Given the description of an element on the screen output the (x, y) to click on. 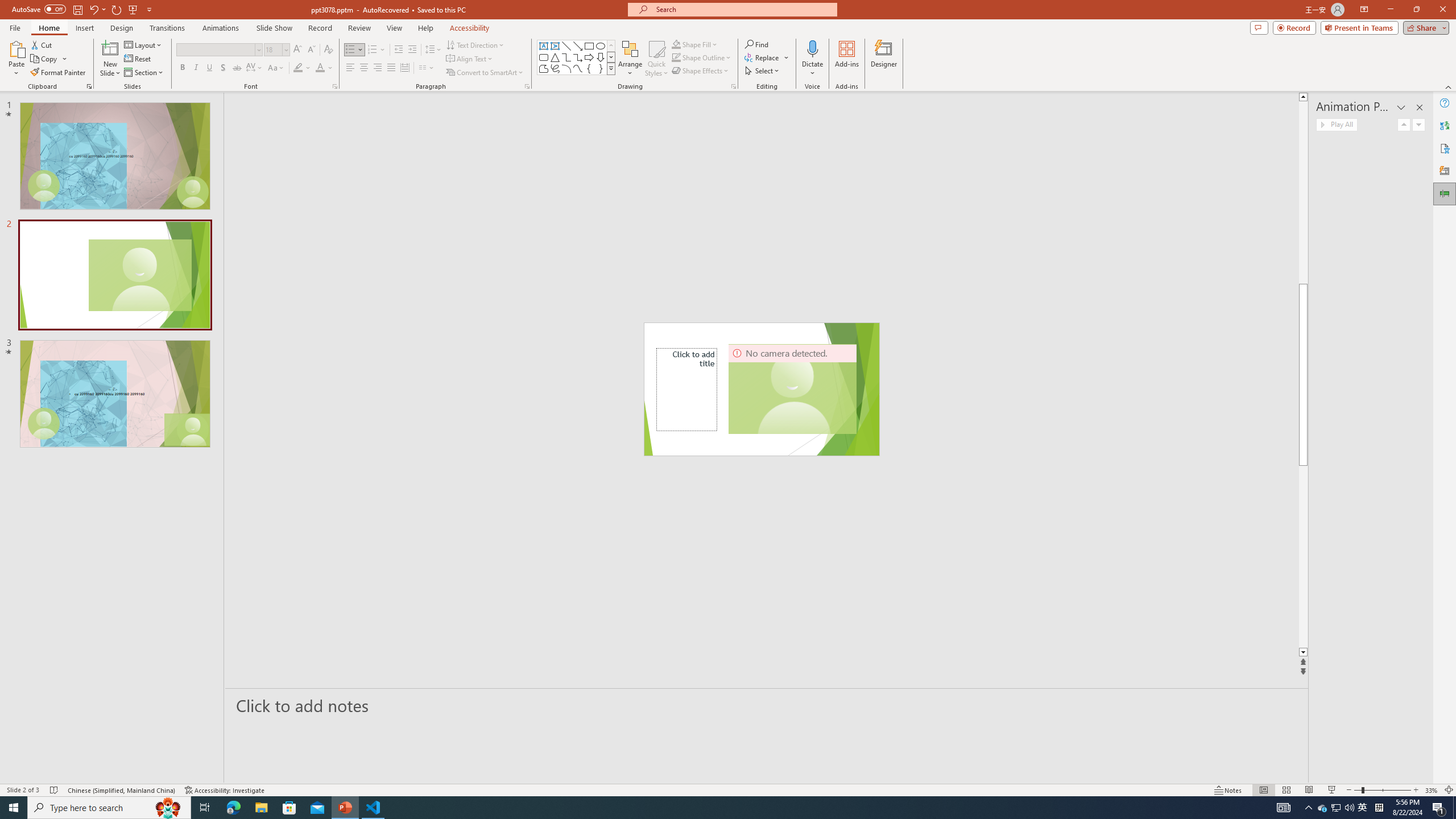
Font (219, 49)
Arrow: Right (589, 57)
Designer (883, 58)
Shapes (611, 68)
Zoom In (1415, 790)
Restore Down (1416, 9)
Reset (138, 58)
Translator (1444, 125)
Help (1444, 102)
Zoom 33% (1431, 790)
Freeform: Shape (543, 68)
Zoom to Fit  (1449, 790)
Reading View (1308, 790)
Accessibility (1444, 147)
